Given the description of an element on the screen output the (x, y) to click on. 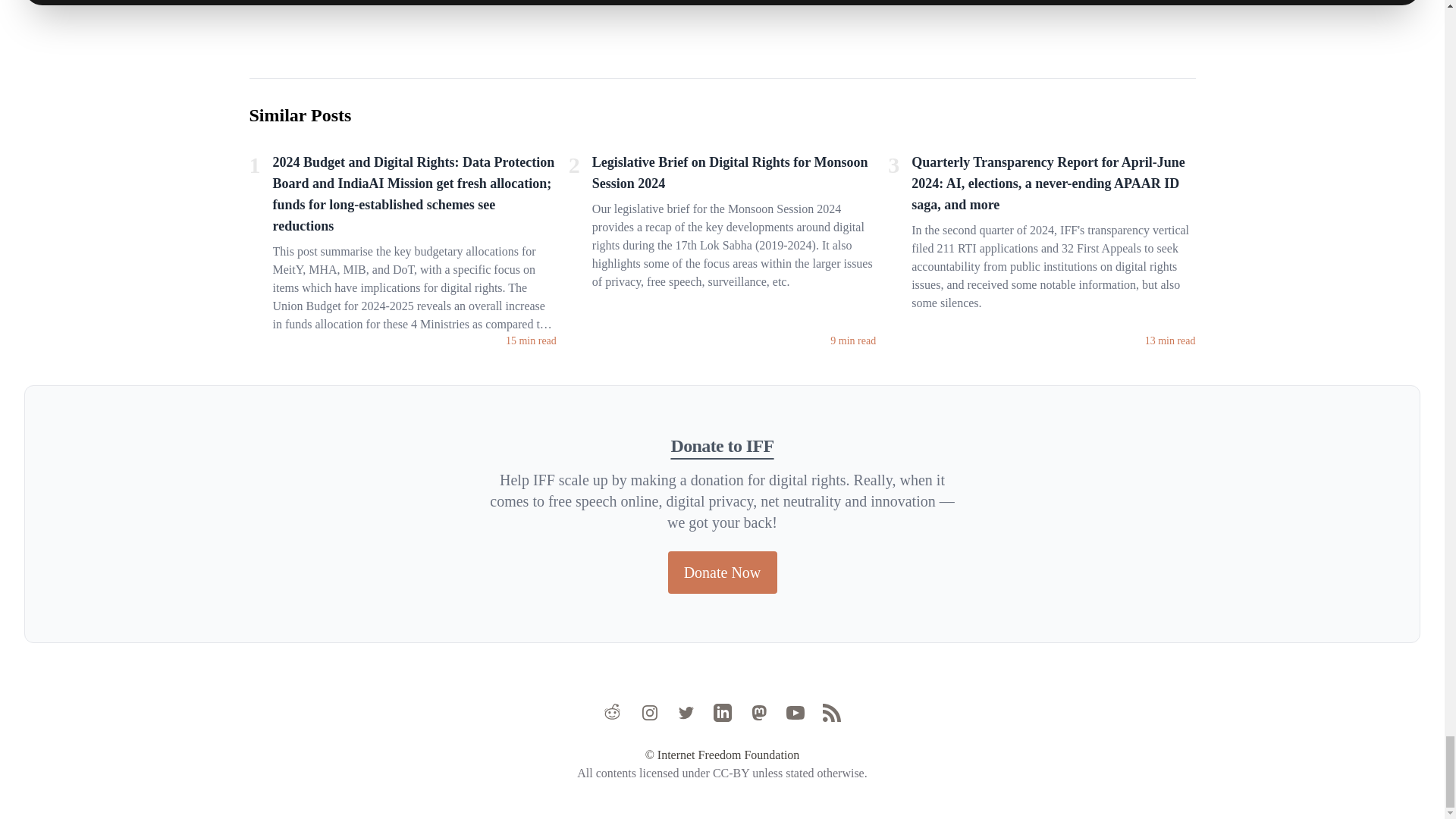
Legislative Brief on Digital Rights for Monsoon Session 2024 (734, 175)
